Given the description of an element on the screen output the (x, y) to click on. 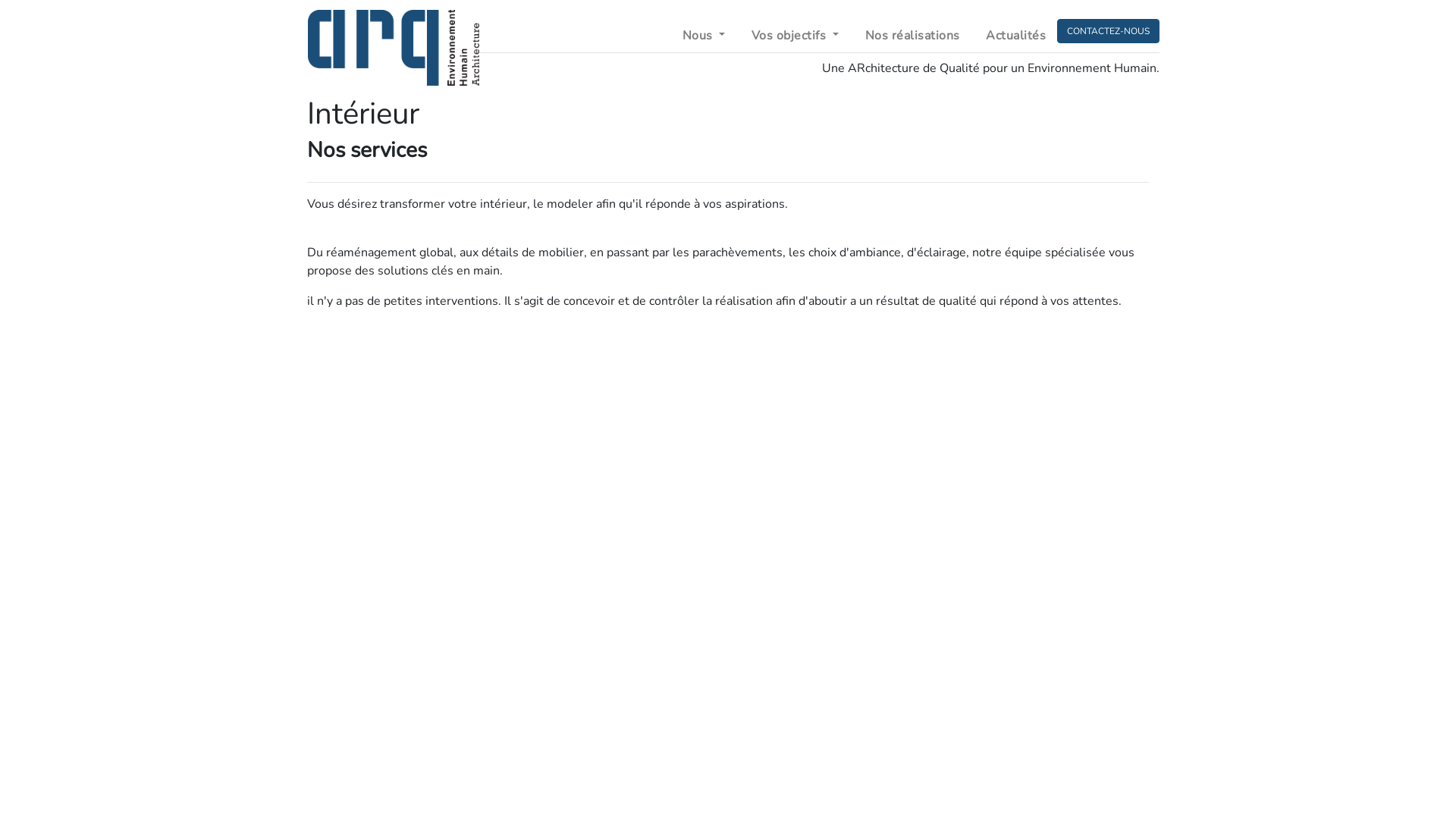
Nous Element type: text (703, 34)
CONTACTEZ-NOUS Element type: text (1108, 30)
Vos objectifs Element type: text (794, 34)
